Given the description of an element on the screen output the (x, y) to click on. 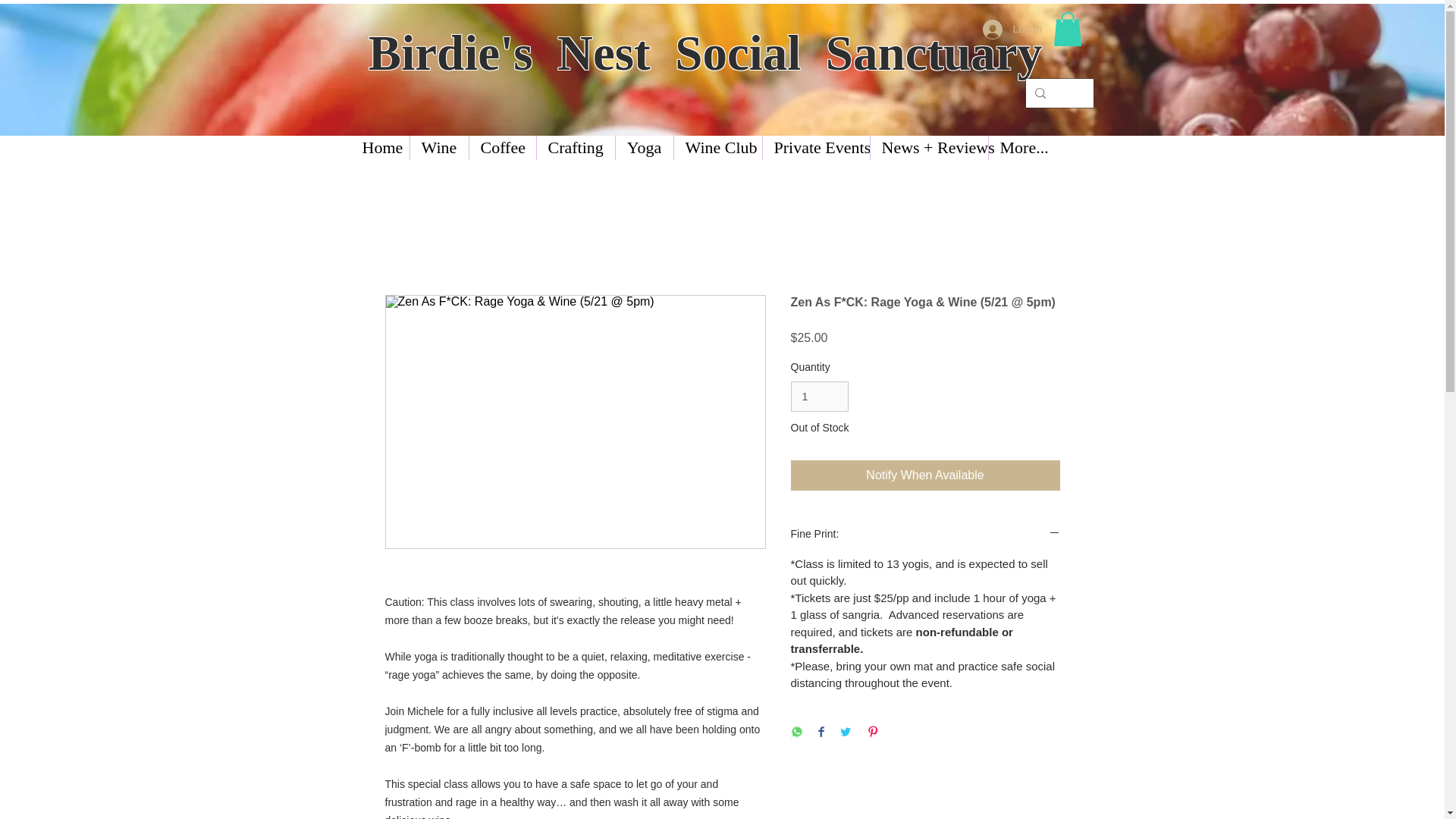
Notify When Available (924, 475)
Wine Club (716, 147)
Wine (438, 147)
Yoga (643, 147)
Coffee (501, 147)
Log In (1012, 29)
1 (818, 396)
Home (379, 147)
Crafting (575, 147)
Fine Print: (924, 534)
